Given the description of an element on the screen output the (x, y) to click on. 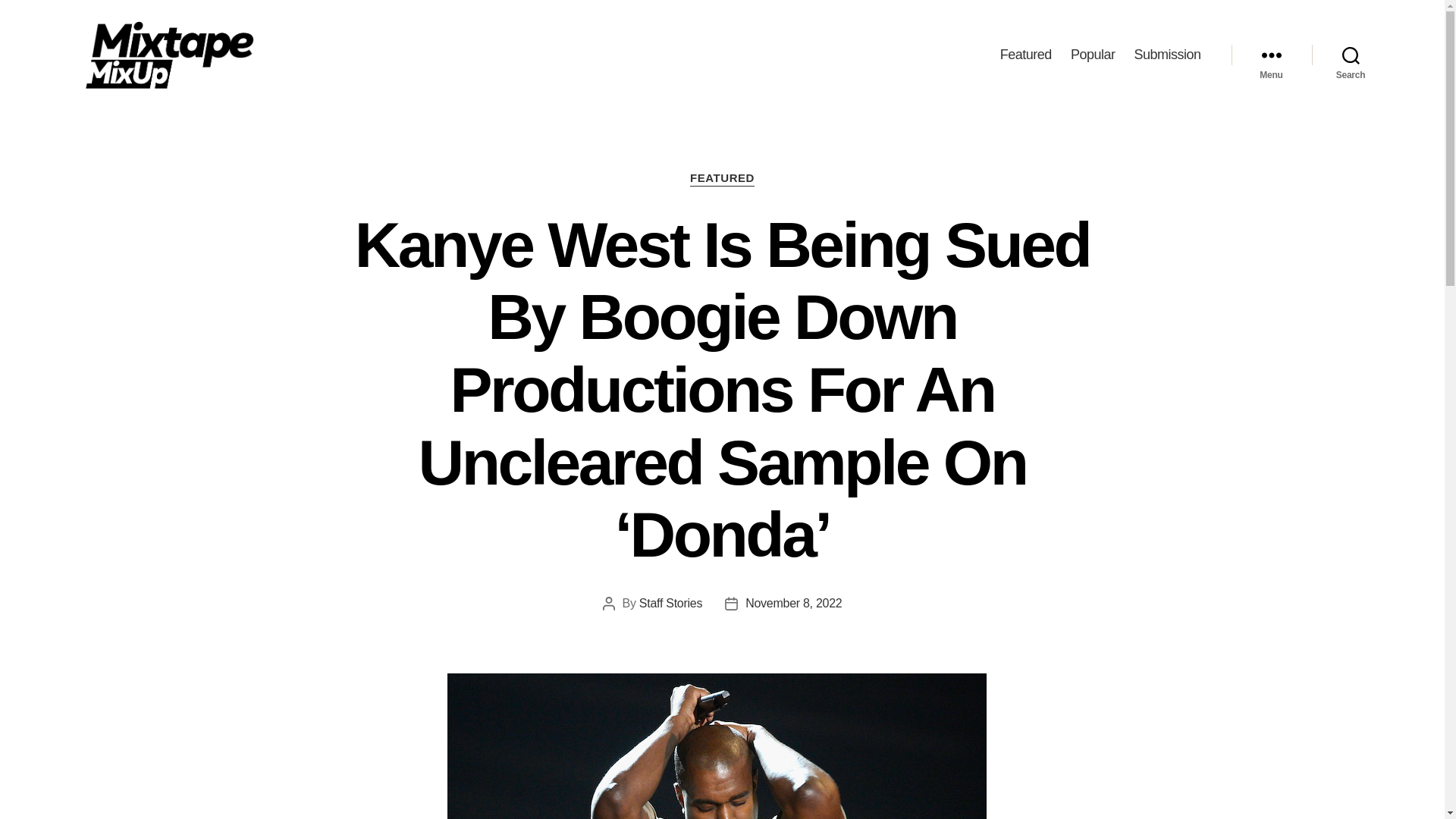
Popular (1092, 54)
November 8, 2022 (793, 603)
Submission (1166, 54)
Featured (1025, 54)
Search (1350, 55)
FEATURED (722, 178)
Staff Stories (670, 603)
Menu (1271, 55)
